Given the description of an element on the screen output the (x, y) to click on. 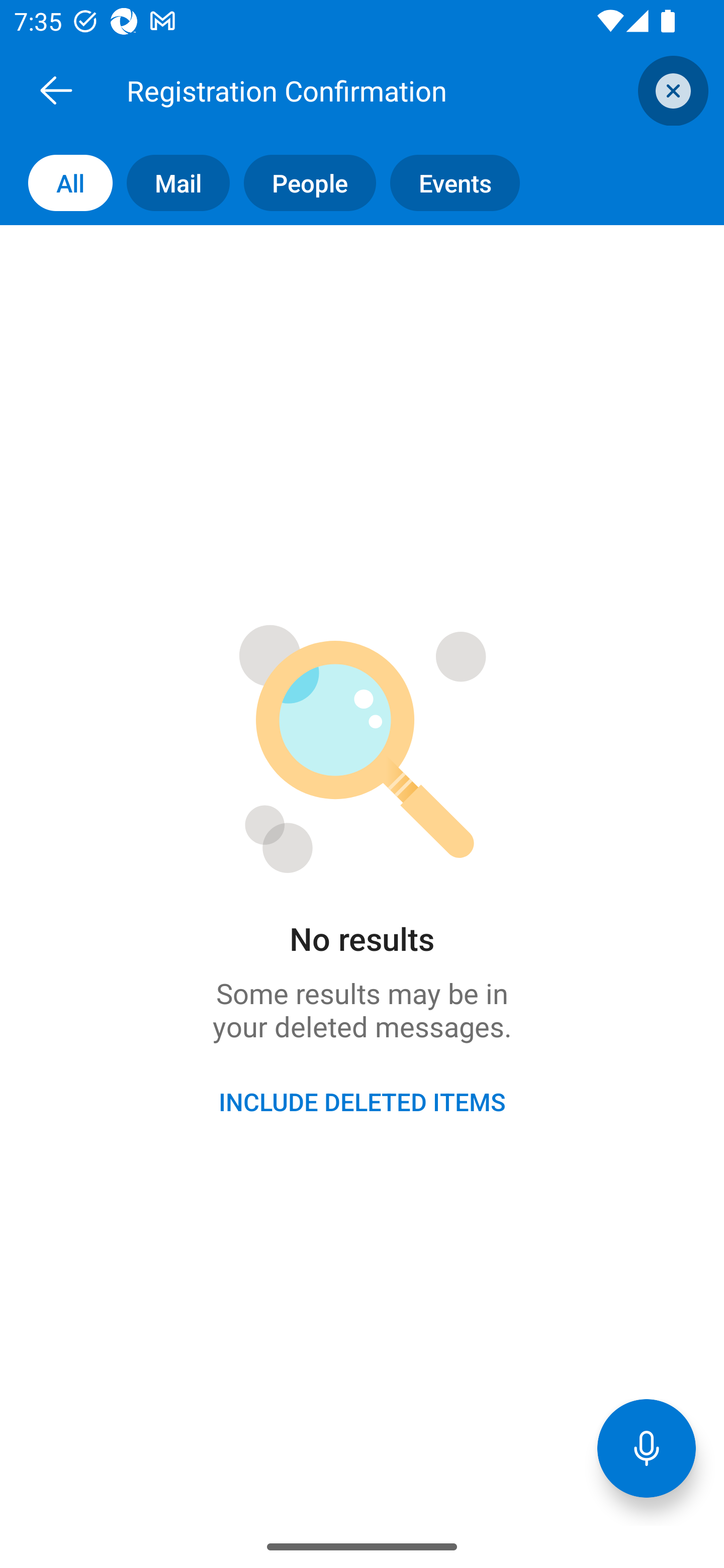
Back (55, 89)
Registration Confirmation (384, 89)
clear search (670, 90)
Mail (170, 183)
People (302, 183)
Events (447, 183)
INCLUDE DELETED ITEMS (362, 1101)
Voice Assistant (646, 1447)
